Given the description of an element on the screen output the (x, y) to click on. 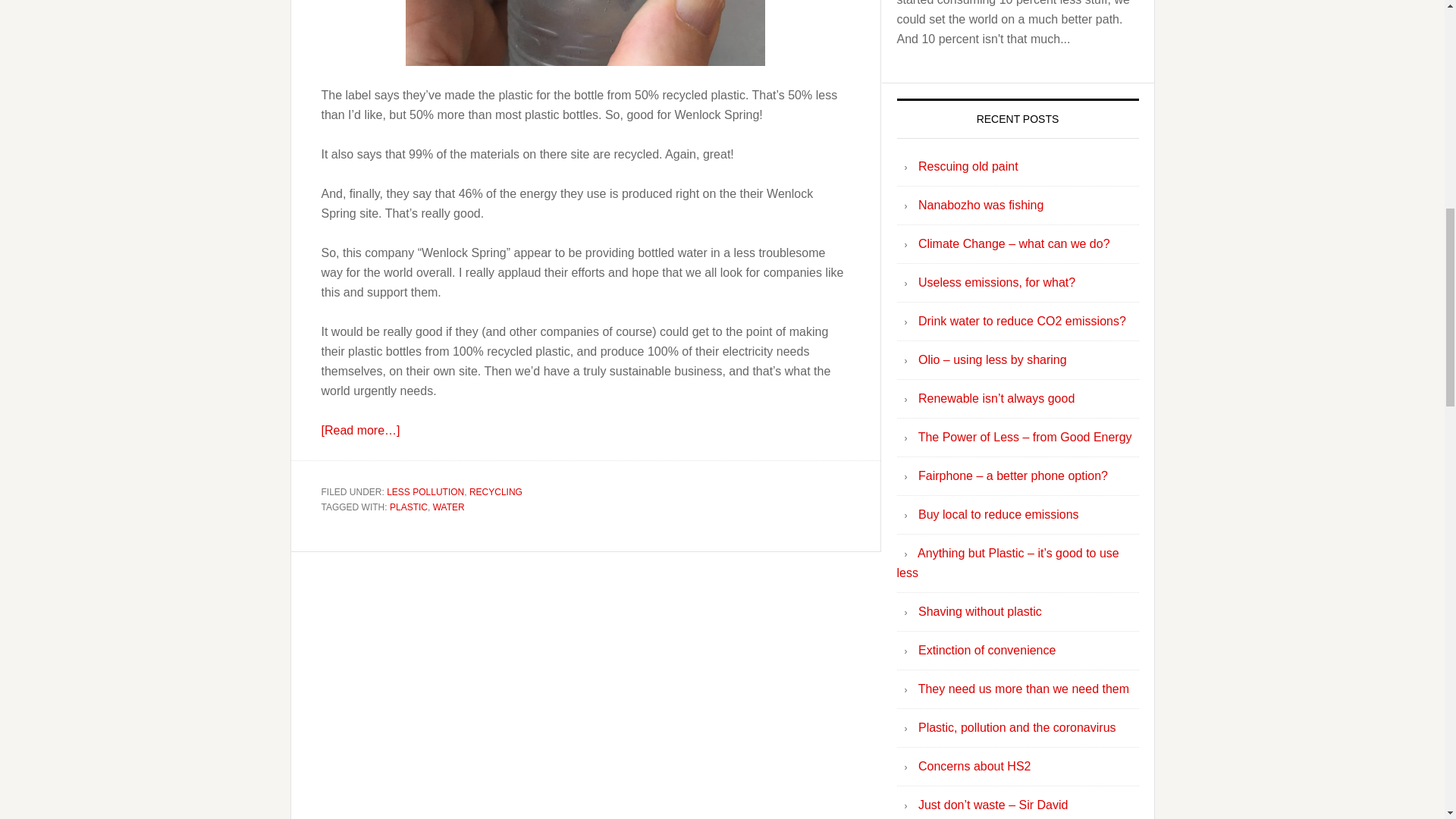
Useless emissions, for what? (996, 282)
Nanabozho was fishing (980, 205)
RECYCLING (495, 491)
PLASTIC (409, 507)
WATER (448, 507)
Drink water to reduce CO2 emissions? (1021, 320)
Rescuing old paint (967, 165)
LESS POLLUTION (425, 491)
